Given the description of an element on the screen output the (x, y) to click on. 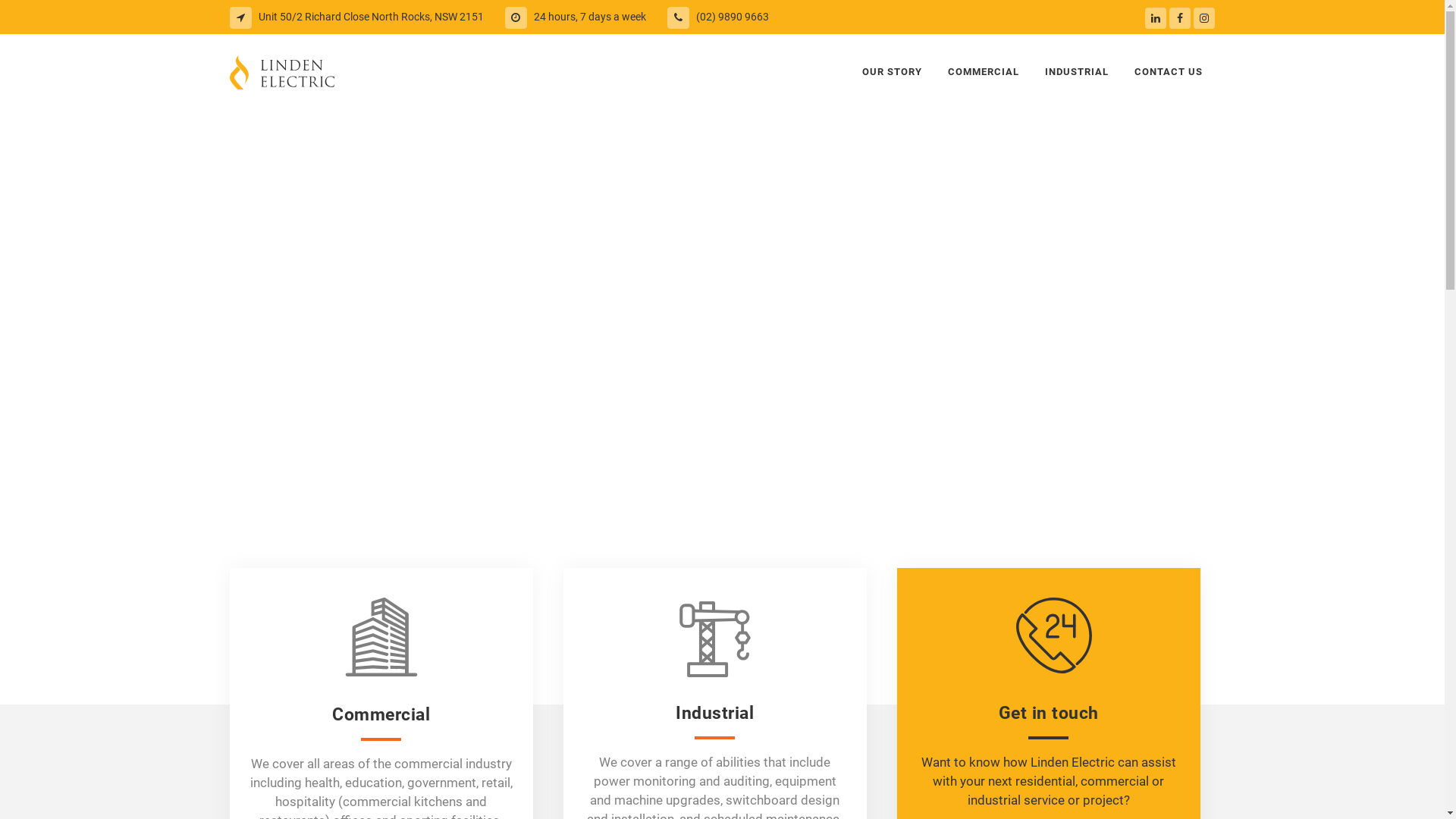
COMMERCIAL Element type: text (982, 71)
OUR STORY Element type: text (892, 71)
INDUSTRIAL Element type: text (1075, 71)
CONTACT US Element type: text (1167, 71)
